Given the description of an element on the screen output the (x, y) to click on. 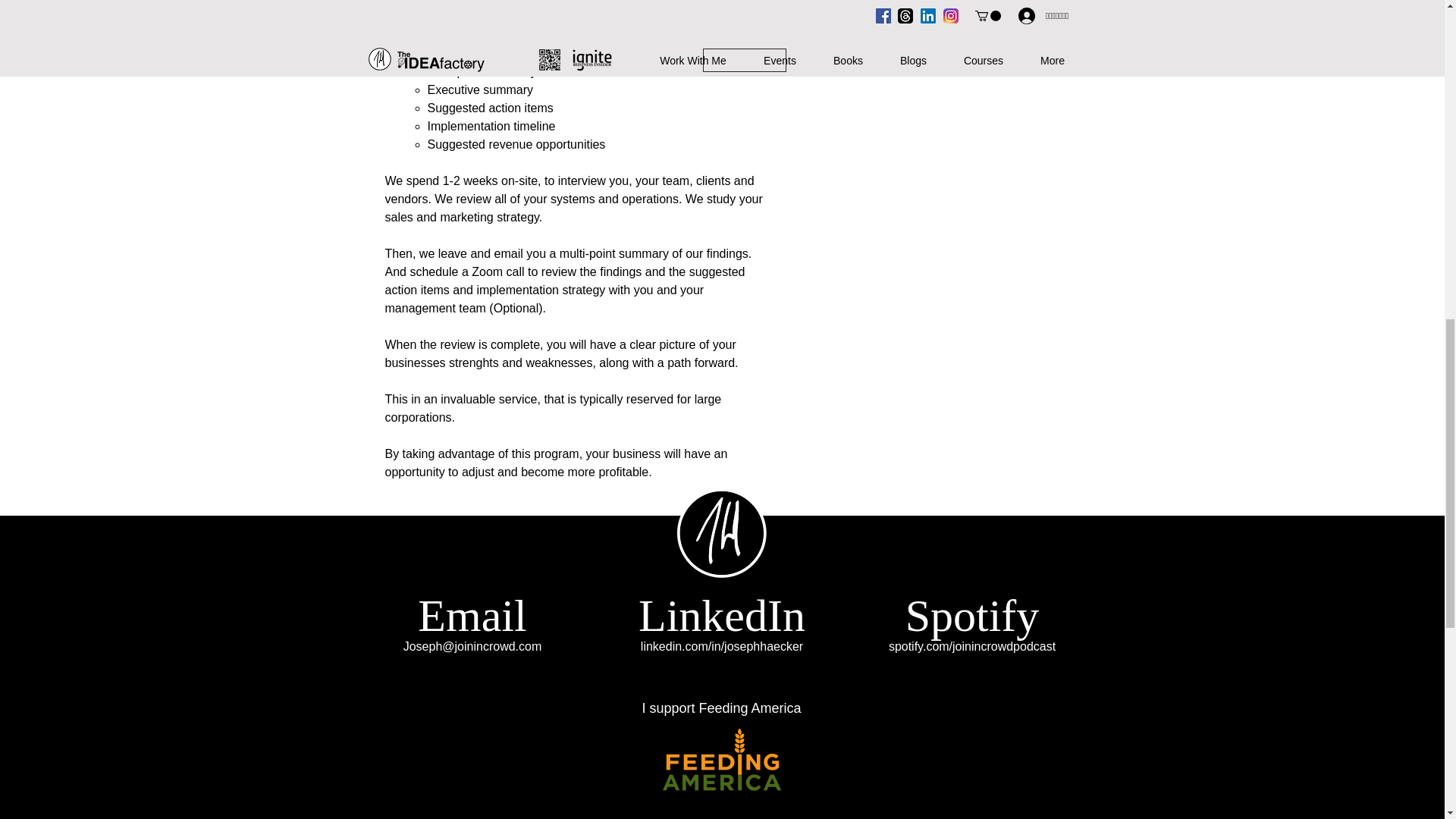
Spotify (972, 615)
Email (471, 615)
LinkedIn (722, 615)
I support Feeding America (721, 708)
Joseph Haecker - Logo Round - White on B (722, 532)
